Given the description of an element on the screen output the (x, y) to click on. 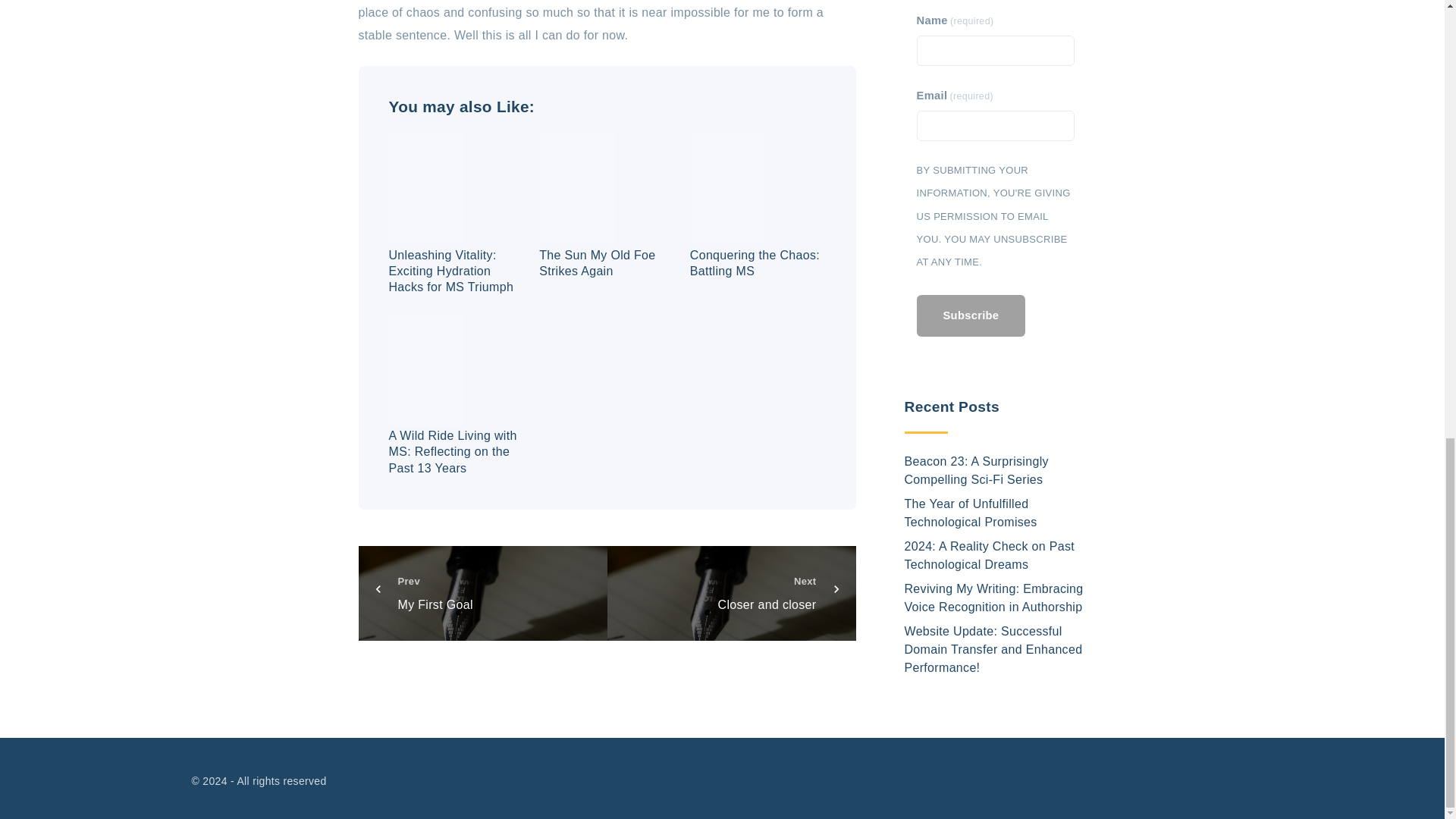
Conquering the Chaos: Battling MS (754, 262)
Unleashing Vitality: Exciting Hydration Hacks for MS Triumph (450, 271)
The Sun My Old Foe Strikes Again (596, 262)
Beacon 23: A Surprisingly Compelling Sci-Fi Series (731, 593)
A Wild Ride Living with MS: Reflecting on the Past 13 Years (976, 75)
The Year of Unfulfilled Technological Promises (452, 452)
